Given the description of an element on the screen output the (x, y) to click on. 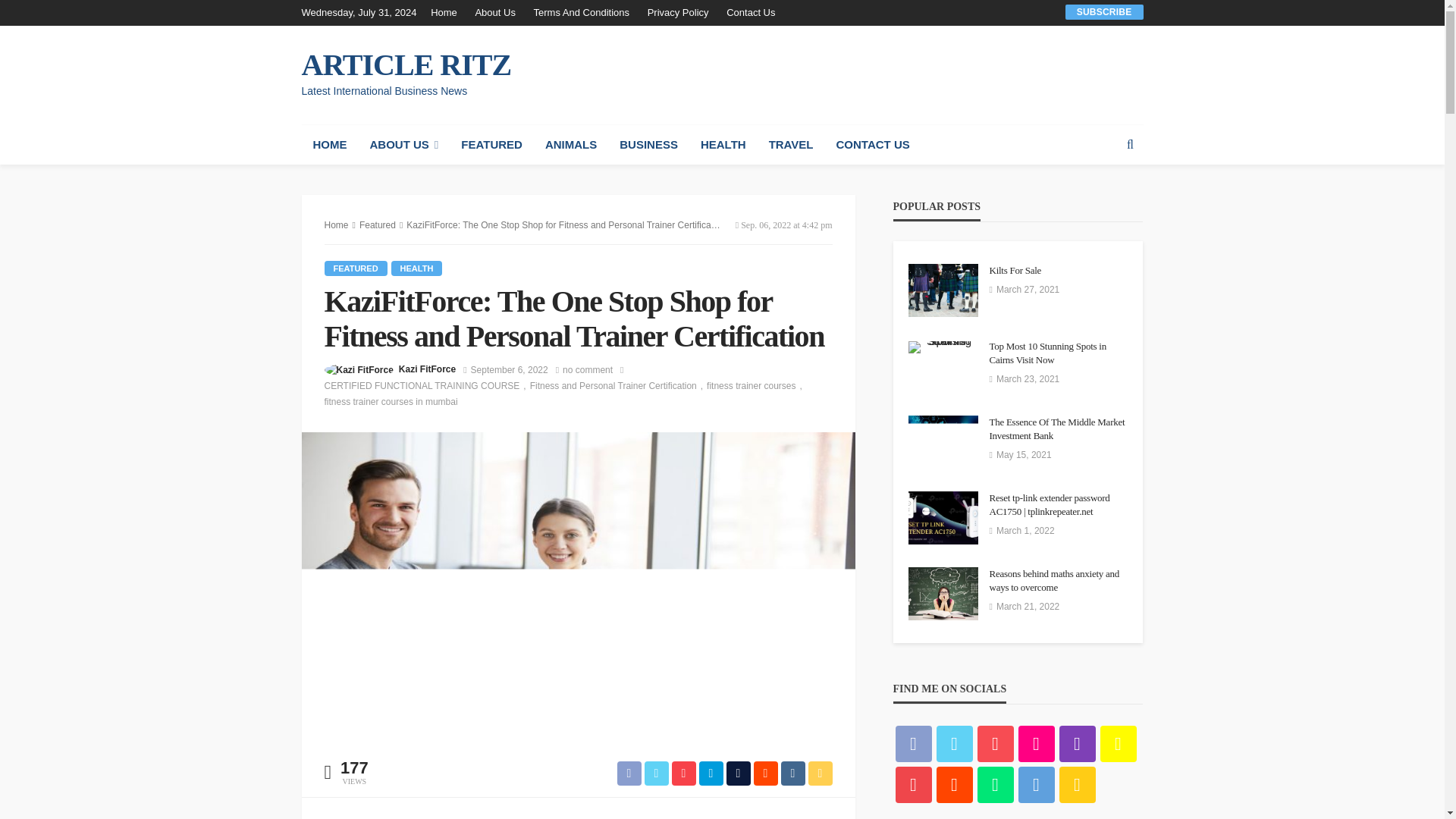
SUBSCRIBE (1103, 11)
Terms And Conditions (581, 12)
Privacy Policy (678, 12)
Home (447, 12)
fitness trainer courses (756, 385)
Health (416, 268)
Featured (355, 268)
About Us (494, 12)
CERTIFIED FUNCTIONAL TRAINING COURSE (426, 385)
fitness trainer courses in mumbai (391, 401)
Contact Us (751, 12)
Fitness and Personal Trainer Certification (617, 385)
subscribe (1103, 11)
